Given the description of an element on the screen output the (x, y) to click on. 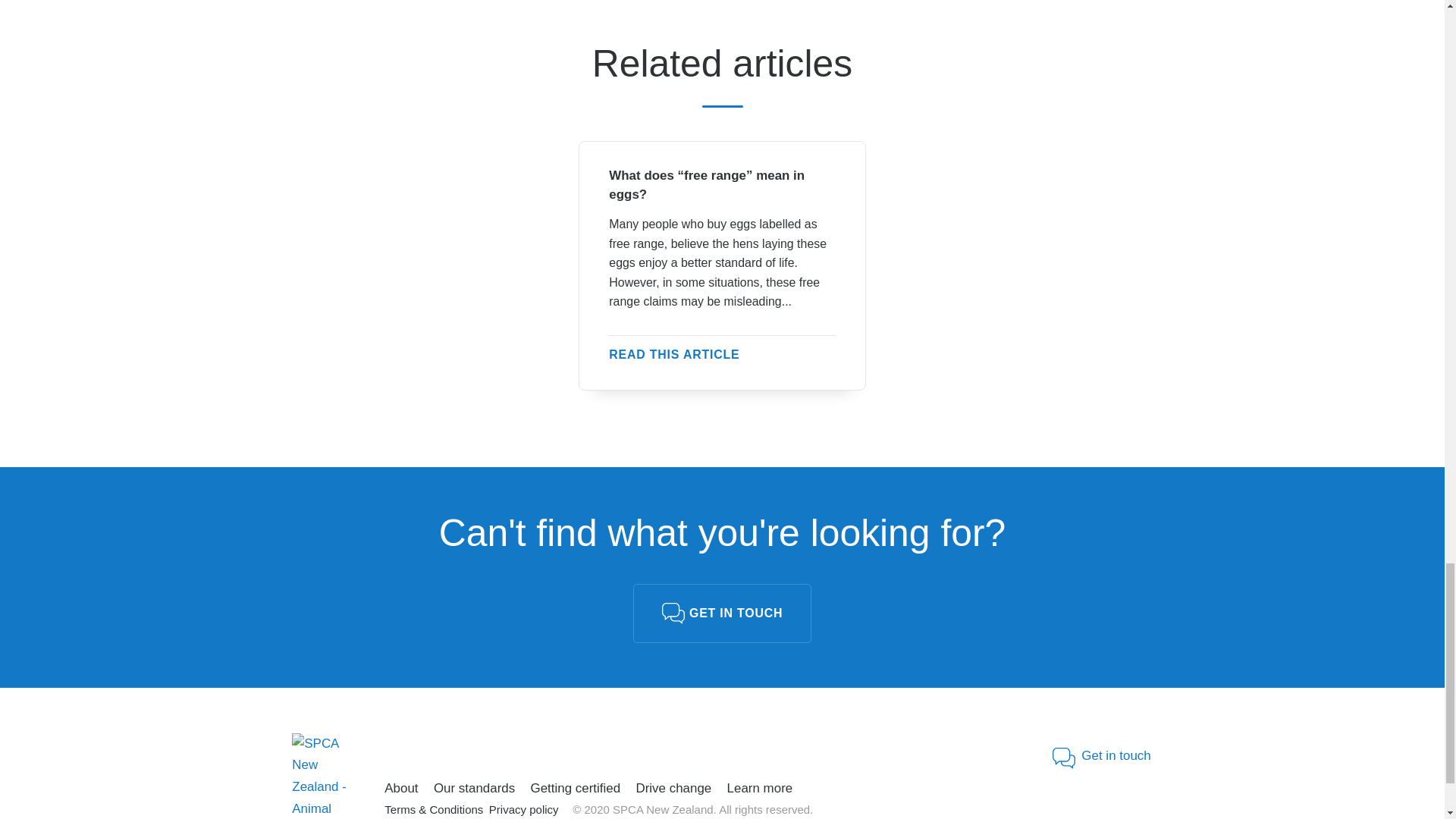
GET IN TOUCH (721, 612)
About (401, 788)
Getting certified (574, 788)
Learn more (759, 788)
Our standards (474, 788)
Drive change (673, 788)
